Given the description of an element on the screen output the (x, y) to click on. 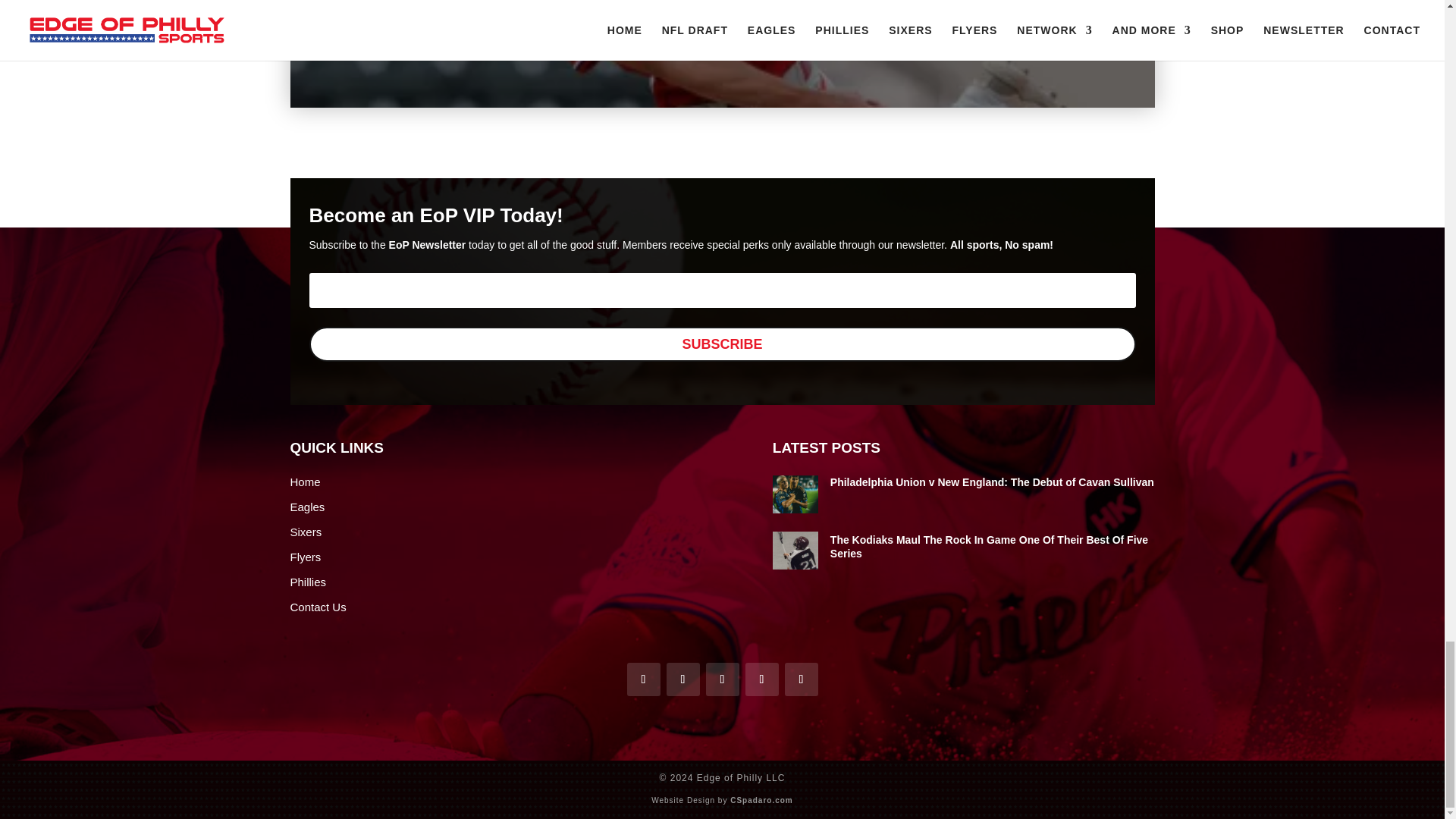
Follow on Youtube (721, 679)
Follow on LinkedIn (800, 679)
Spadaro website (761, 800)
Follow on Instagram (760, 679)
Follow on Facebook (642, 679)
Follow on Twitter (681, 679)
